Given the description of an element on the screen output the (x, y) to click on. 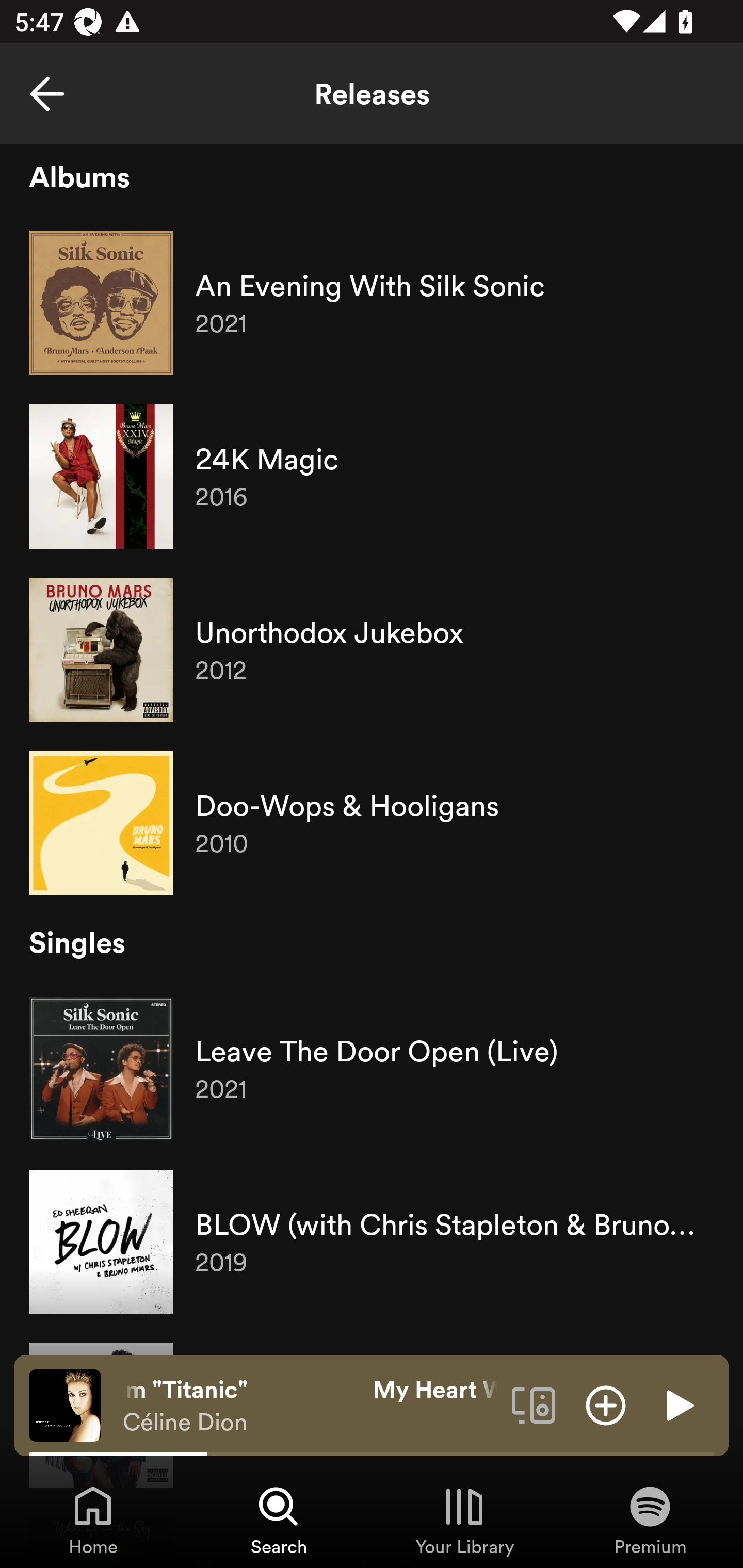
Back (46, 93)
An Evening With Silk Sonic 2021 (371, 303)
24K Magic 2016 (371, 476)
Unorthodox Jukebox 2012 (371, 649)
Doo-Wops & Hooligans 2010 (371, 822)
Leave The Door Open (Live) 2021 (371, 1068)
BLOW (with Chris Stapleton & Bruno Mars) 2019 (371, 1241)
The cover art of the currently playing track (64, 1404)
Connect to a device. Opens the devices menu (533, 1404)
Add item (605, 1404)
Play (677, 1404)
Home, Tab 1 of 4 Home Home (92, 1519)
Search, Tab 2 of 4 Search Search (278, 1519)
Your Library, Tab 3 of 4 Your Library Your Library (464, 1519)
Premium, Tab 4 of 4 Premium Premium (650, 1519)
